Given the description of an element on the screen output the (x, y) to click on. 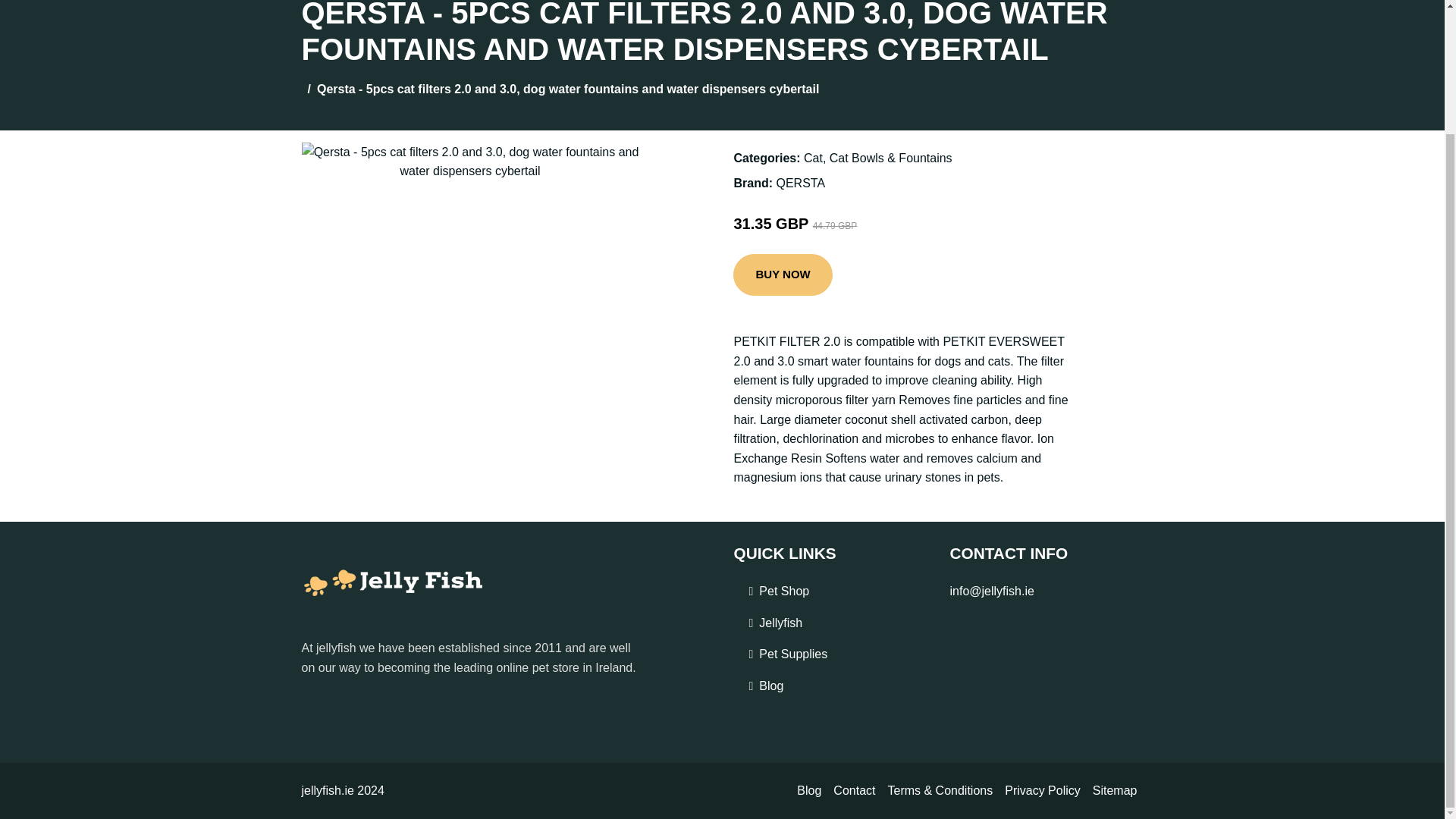
BUY NOW (782, 274)
Cat (812, 157)
Pet Supplies (792, 654)
Blog (770, 686)
Jellyfish (780, 623)
Pet Shop (783, 591)
Privacy Policy (1042, 790)
Sitemap (1114, 790)
Contact (853, 790)
Blog (808, 790)
